Given the description of an element on the screen output the (x, y) to click on. 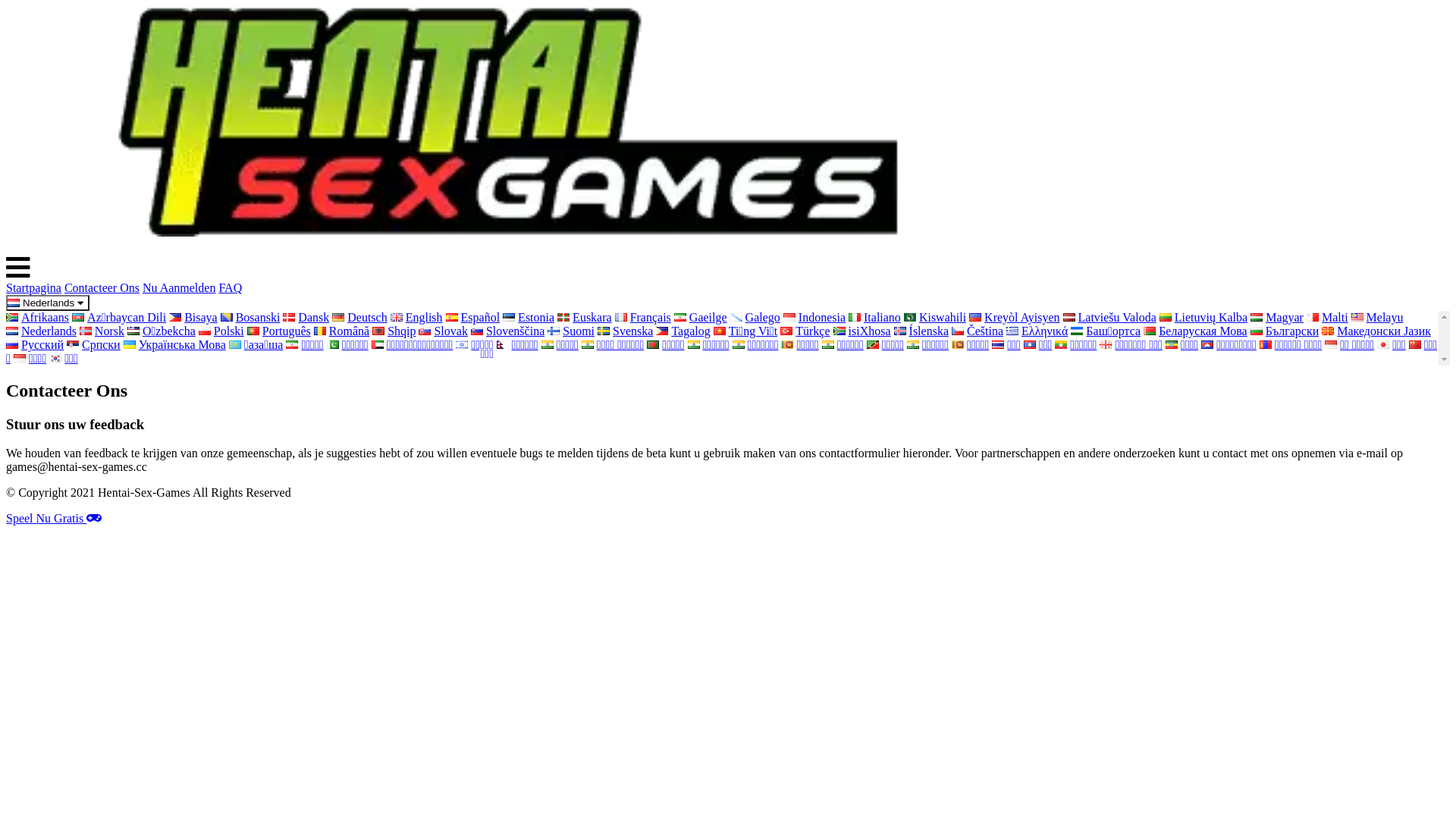
Estonia Element type: text (528, 316)
Nederlands Element type: text (41, 330)
Svenska Element type: text (624, 330)
Kiswahili Element type: text (934, 316)
Shqip Element type: text (393, 330)
Italiano Element type: text (874, 316)
Magyar Element type: text (1276, 316)
Melayu Element type: text (1377, 316)
Bosanski Element type: text (250, 316)
Afrikaans Element type: text (37, 316)
Gaeilge Element type: text (700, 316)
Tagalog Element type: text (682, 330)
Startpagina Element type: text (33, 287)
Bisaya Element type: text (193, 316)
Dansk Element type: text (305, 316)
Suomi Element type: text (570, 330)
Nederlands Element type: text (47, 302)
Indonesia Element type: text (814, 316)
Speel Nu Gratis Element type: text (53, 518)
Nu Aanmelden Element type: text (178, 287)
Galego Element type: text (755, 316)
Deutsch Element type: text (359, 316)
isiXhosa Element type: text (862, 330)
Contacteer Ons Element type: text (101, 287)
English Element type: text (416, 316)
Polski Element type: text (221, 330)
Slovak Element type: text (442, 330)
FAQ Element type: text (229, 287)
Malti Element type: text (1327, 316)
Euskara Element type: text (584, 316)
Norsk Element type: text (101, 330)
